Given the description of an element on the screen output the (x, y) to click on. 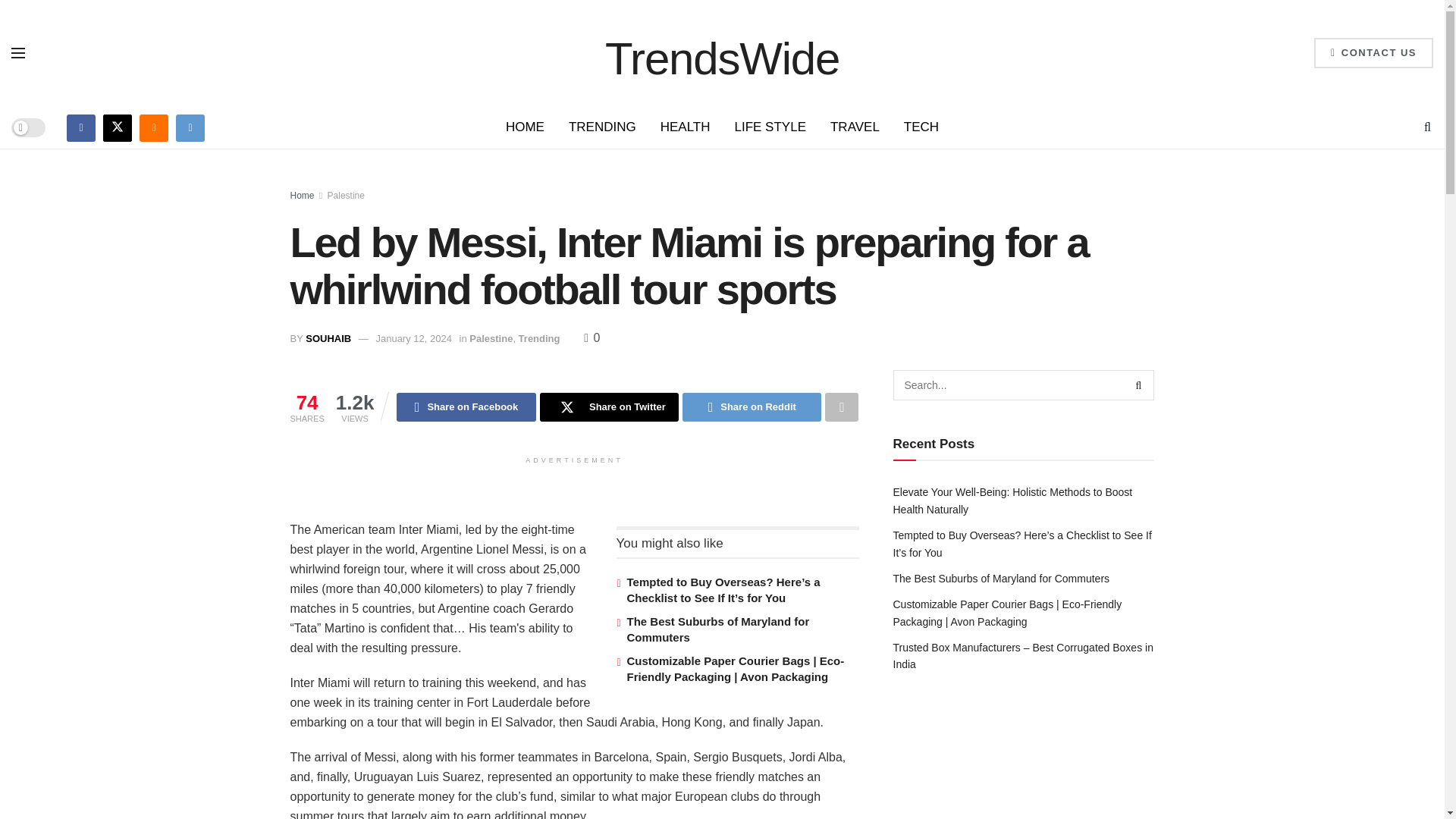
HEALTH (684, 127)
January 12, 2024 (413, 337)
Share on Facebook (465, 407)
0 (591, 337)
TECH (920, 127)
LIFE STYLE (769, 127)
Share on Reddit (751, 407)
TRENDING (601, 127)
Share on Twitter (609, 407)
Home (301, 195)
SOUHAIB (327, 337)
Palestine (346, 195)
Palestine (490, 337)
Trending (539, 337)
TrendsWide (722, 52)
